Given the description of an element on the screen output the (x, y) to click on. 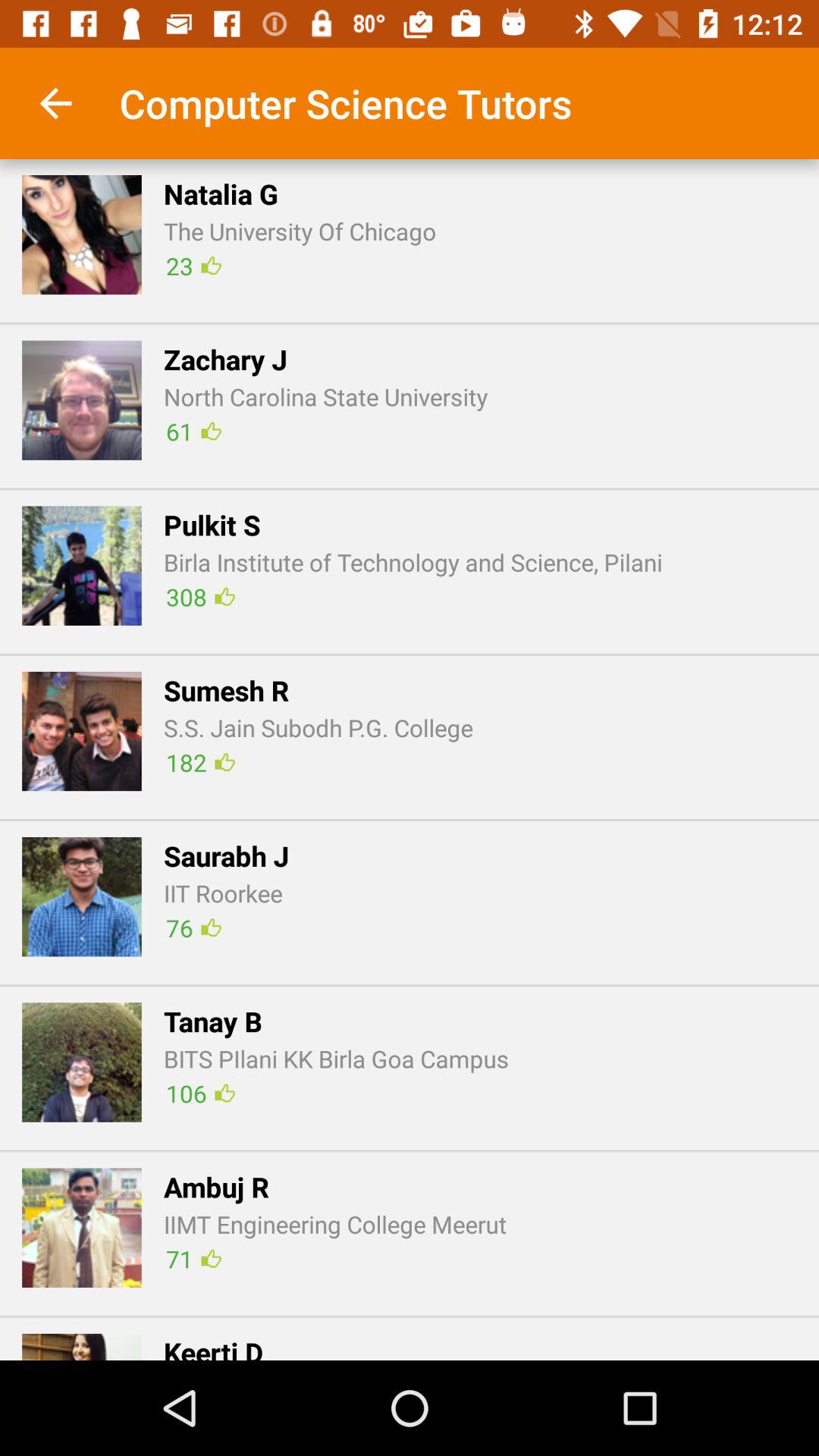
flip until the university of icon (299, 230)
